Given the description of an element on the screen output the (x, y) to click on. 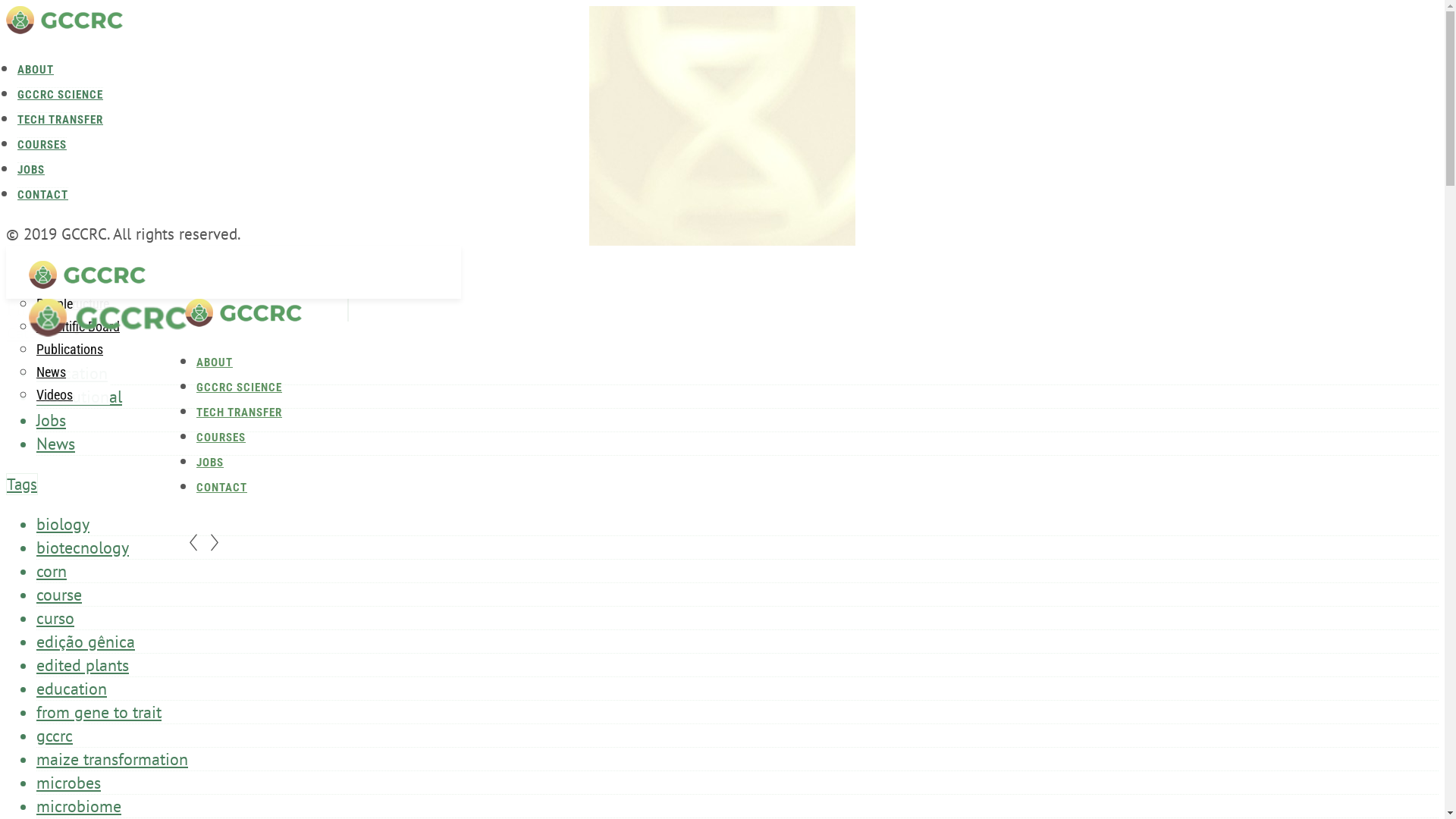
COURSES Element type: text (220, 437)
biotecnology Element type: text (82, 547)
Funding Element type: text (58, 326)
edited plants Element type: text (82, 664)
News Element type: text (109, 126)
Side area Element type: hover (64, 27)
The GCCRC Science Element type: text (147, 35)
microbiome Element type: text (78, 805)
curso Element type: text (55, 617)
Jobs Element type: text (50, 419)
Videos Element type: text (112, 148)
CONTACT Element type: text (221, 487)
About GCCRC Element type: text (72, 280)
TECH TRANSFER Element type: text (239, 412)
biology Element type: text (62, 523)
education Element type: text (71, 688)
Partners Element type: text (58, 349)
Funding Element type: text (116, 80)
Institutional Element type: text (79, 396)
GCCRC SCIENCE Element type: text (60, 94)
maize transformation Element type: text (112, 758)
About GCCRC Element type: text (131, 35)
ABOUT Element type: text (214, 362)
People Element type: text (112, 57)
gccrc Element type: text (54, 735)
Tags Element type: text (21, 484)
Home Element type: hover (86, 282)
Scientific Board Element type: text (136, 80)
CONTACT Element type: text (42, 194)
Home Element type: hover (243, 320)
Scientific Board Element type: text (77, 326)
The GCCRC Science Element type: text (88, 280)
TECH TRANSFER Element type: text (60, 119)
COURSES Element type: text (41, 144)
Publications Element type: text (69, 349)
People Element type: text (54, 303)
News Element type: text (50, 371)
ABOUT Element type: text (35, 69)
GCCRC SCIENCE Element type: text (239, 387)
Education Element type: text (71, 372)
Infrastructure Element type: text (131, 57)
Infrastructure Element type: text (72, 303)
corn Element type: text (51, 570)
Publications Element type: text (127, 103)
Videos Element type: text (54, 394)
Categories Element type: text (42, 333)
from gene to trait Element type: text (98, 711)
course Element type: text (58, 594)
microbes Element type: text (68, 782)
Partners Element type: text (116, 103)
JOBS Element type: text (209, 462)
JOBS Element type: text (30, 169)
News Element type: text (55, 443)
